Given the description of an element on the screen output the (x, y) to click on. 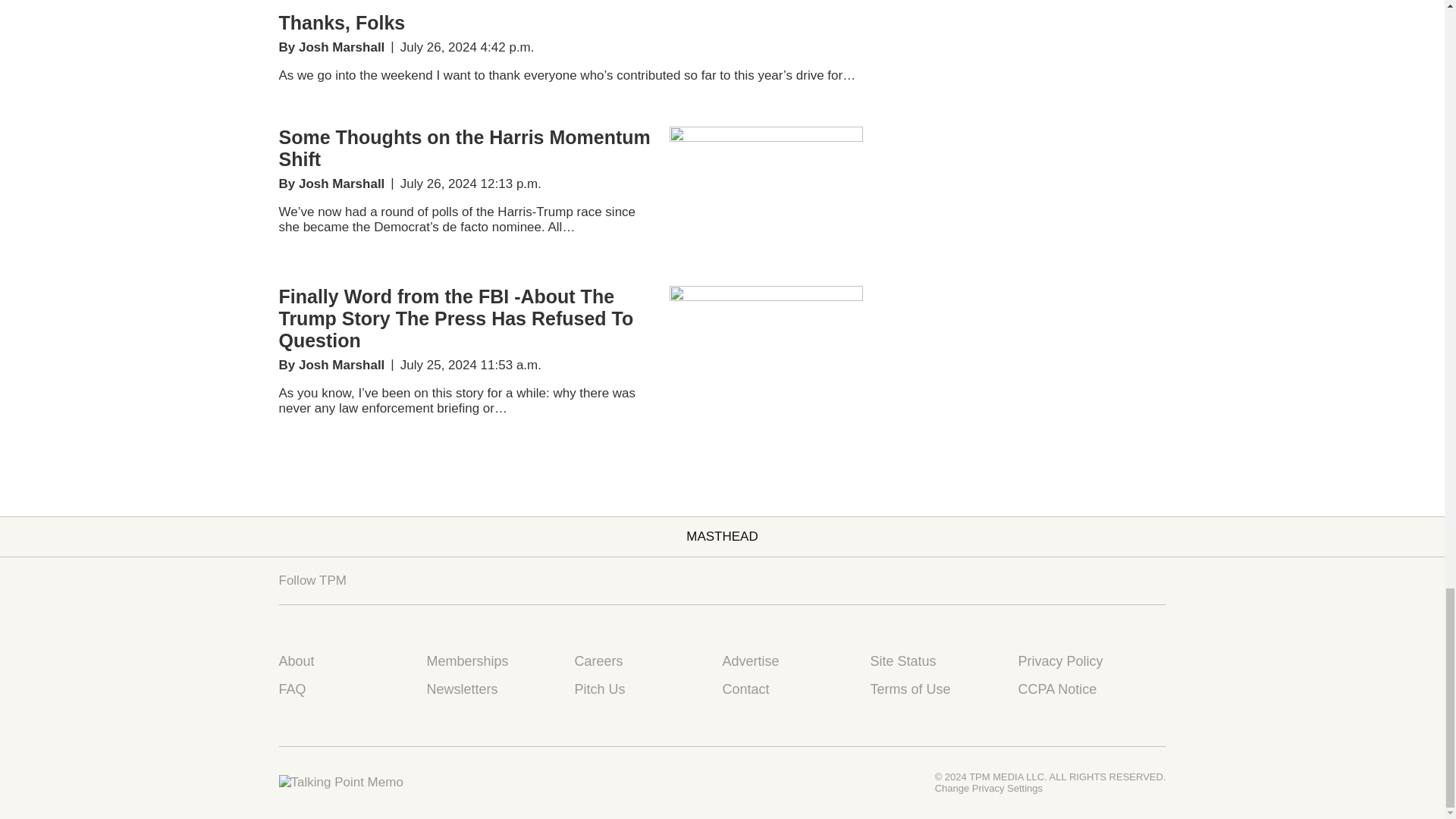
Posts by Josh Marshall (341, 364)
Posts by Josh Marshall (341, 47)
Posts by Josh Marshall (341, 183)
